Given the description of an element on the screen output the (x, y) to click on. 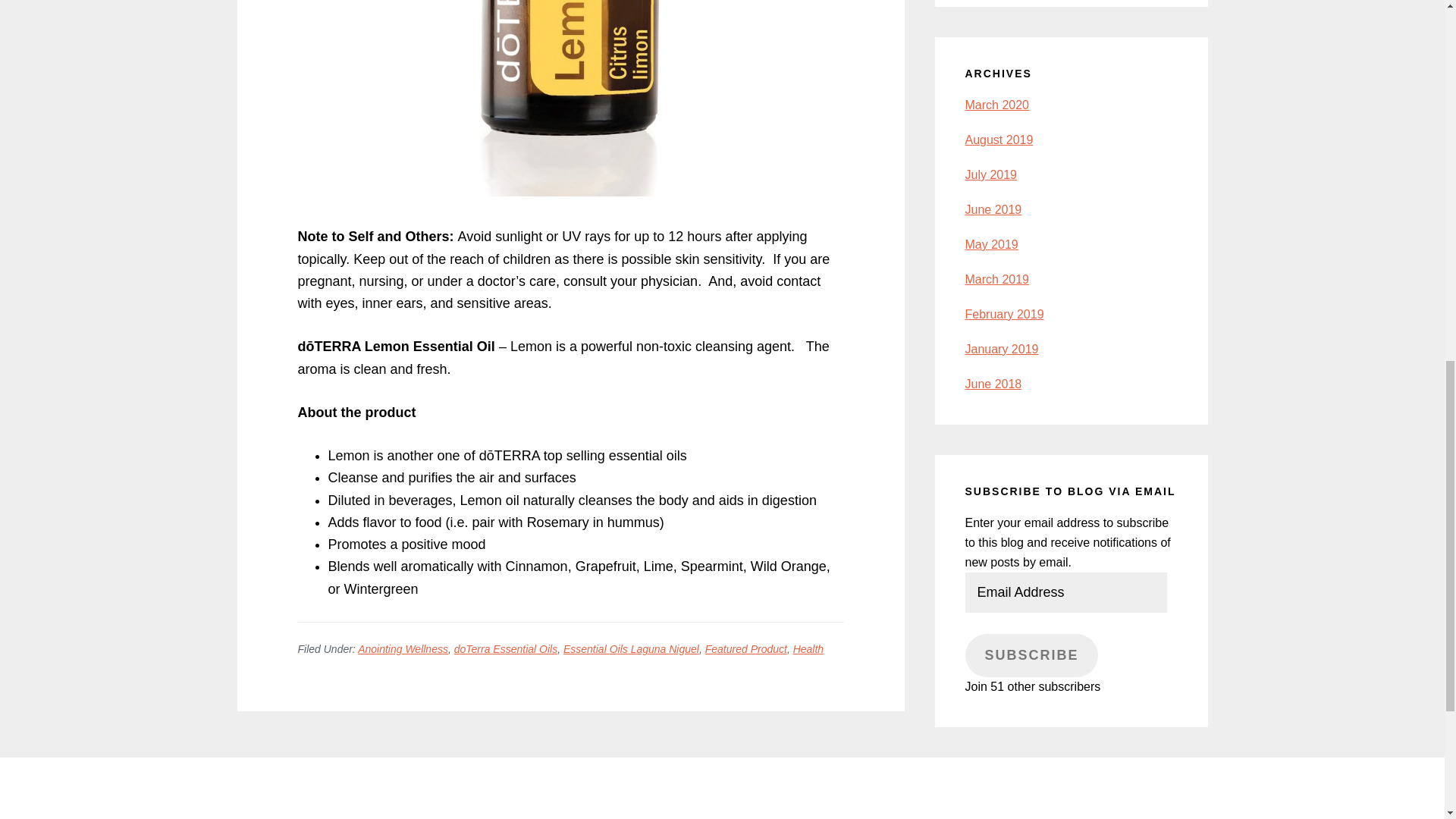
Essential Oils Laguna Niguel (630, 648)
Featured Product (745, 648)
August 2019 (997, 139)
Health (808, 648)
March 2020 (996, 104)
Anointing Wellness (403, 648)
doTerra Essential Oils (505, 648)
